Given the description of an element on the screen output the (x, y) to click on. 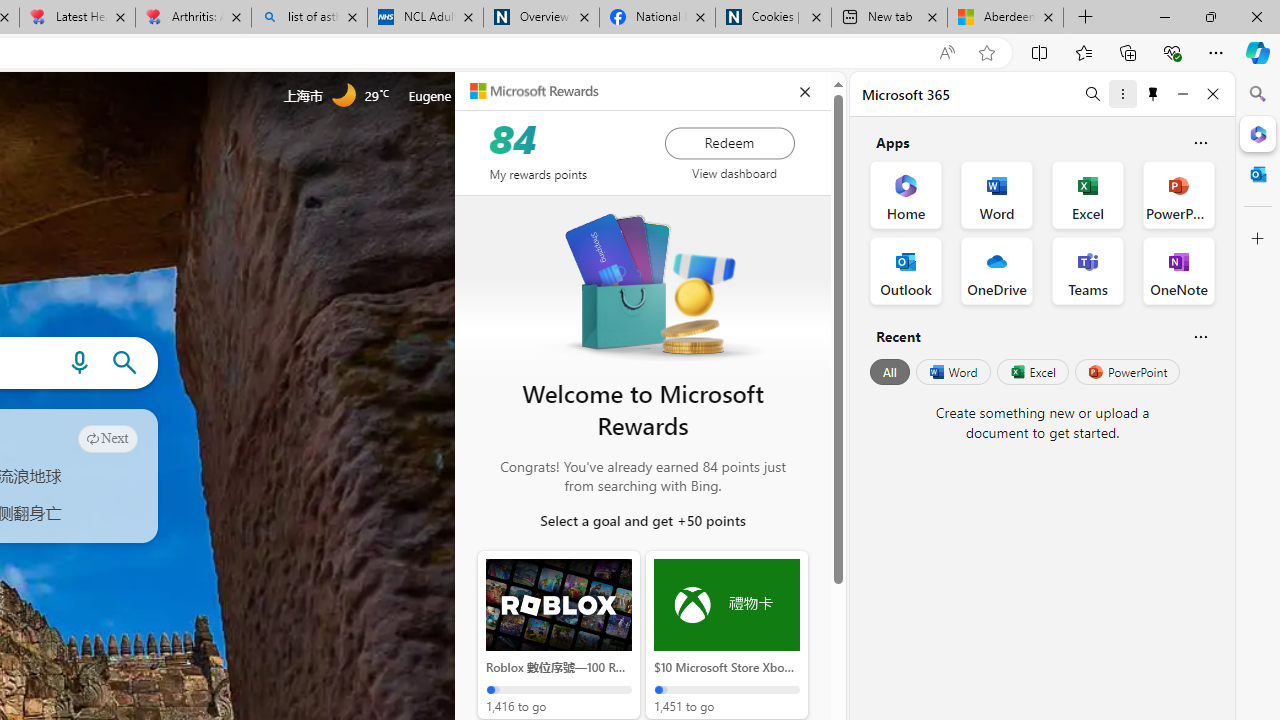
Word Office App (996, 194)
PowerPoint Office App (1178, 194)
OneNote Office App (1178, 270)
Close Customize pane (1258, 239)
Next (108, 438)
Teams Office App (1087, 270)
Microsoft Rewards (534, 90)
